Given the description of an element on the screen output the (x, y) to click on. 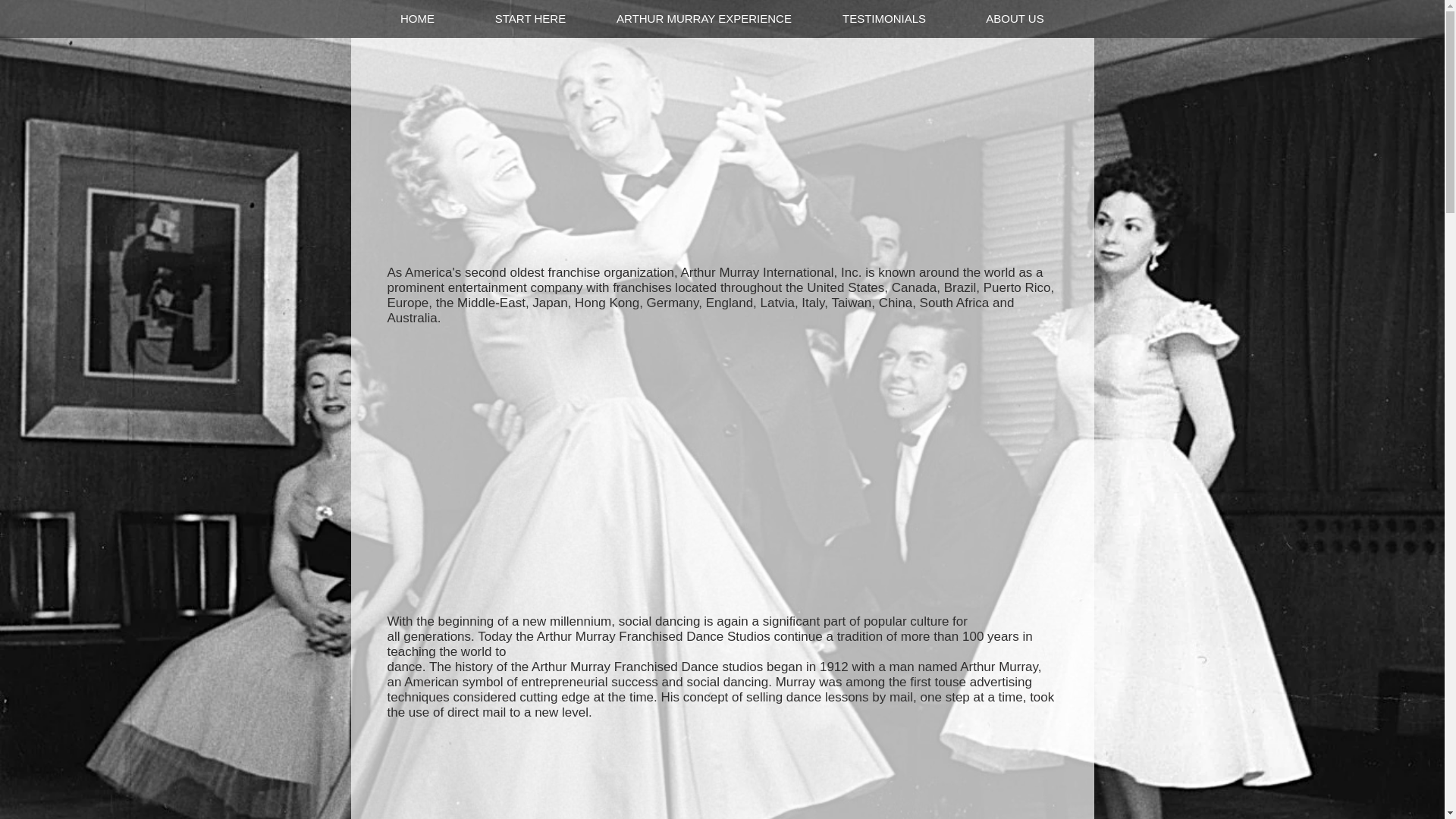
START HERE (529, 18)
HOME (416, 18)
ABOUT US (1015, 18)
TESTIMONIALS (883, 18)
ARTHUR MURRAY EXPERIENCE (703, 18)
